Given the description of an element on the screen output the (x, y) to click on. 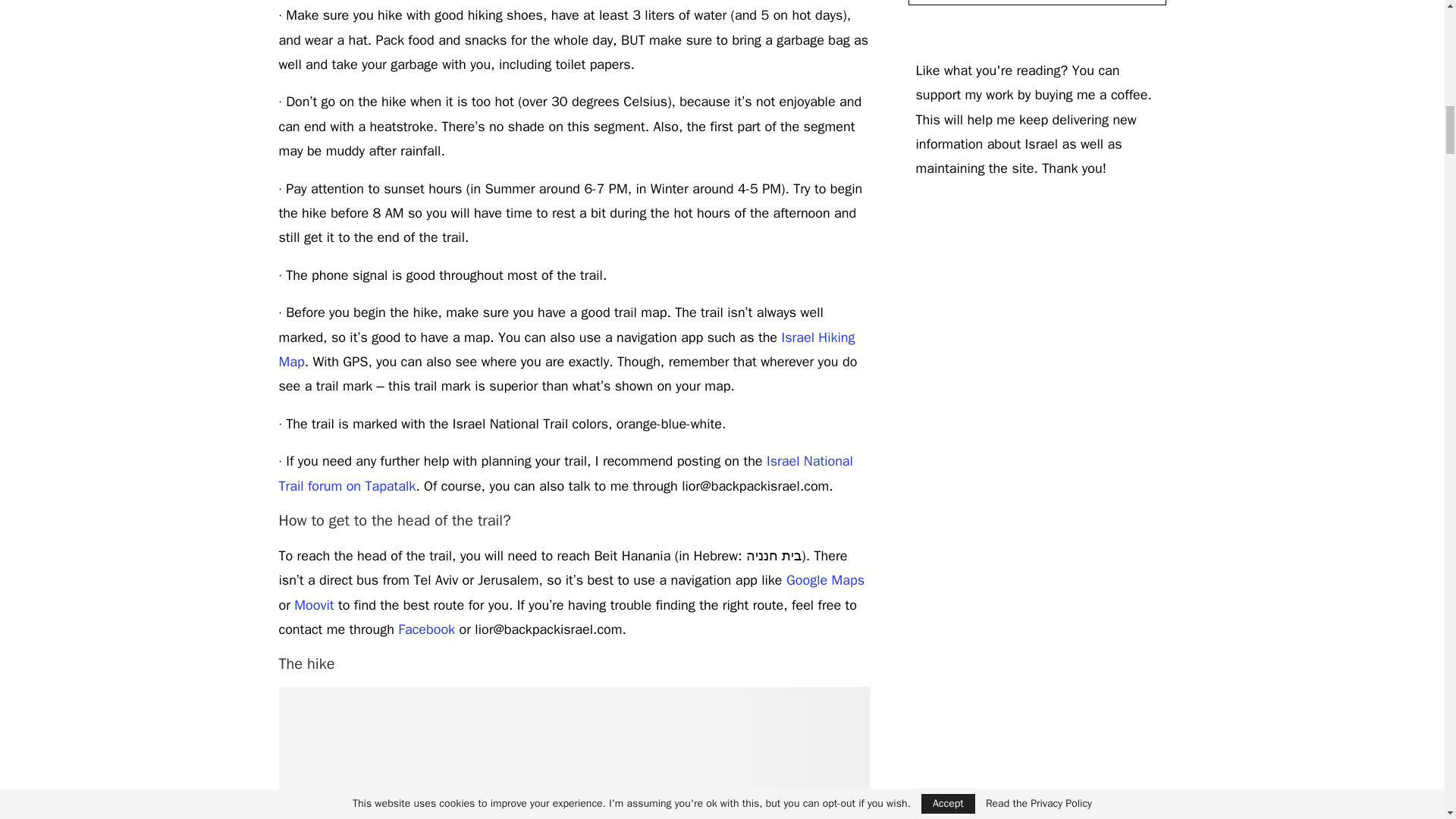
Facebook (425, 629)
Google Maps (825, 579)
Israel National Trail forum on Tapatalk (566, 472)
Israel Hiking Map (567, 349)
Moovit (313, 605)
